Given the description of an element on the screen output the (x, y) to click on. 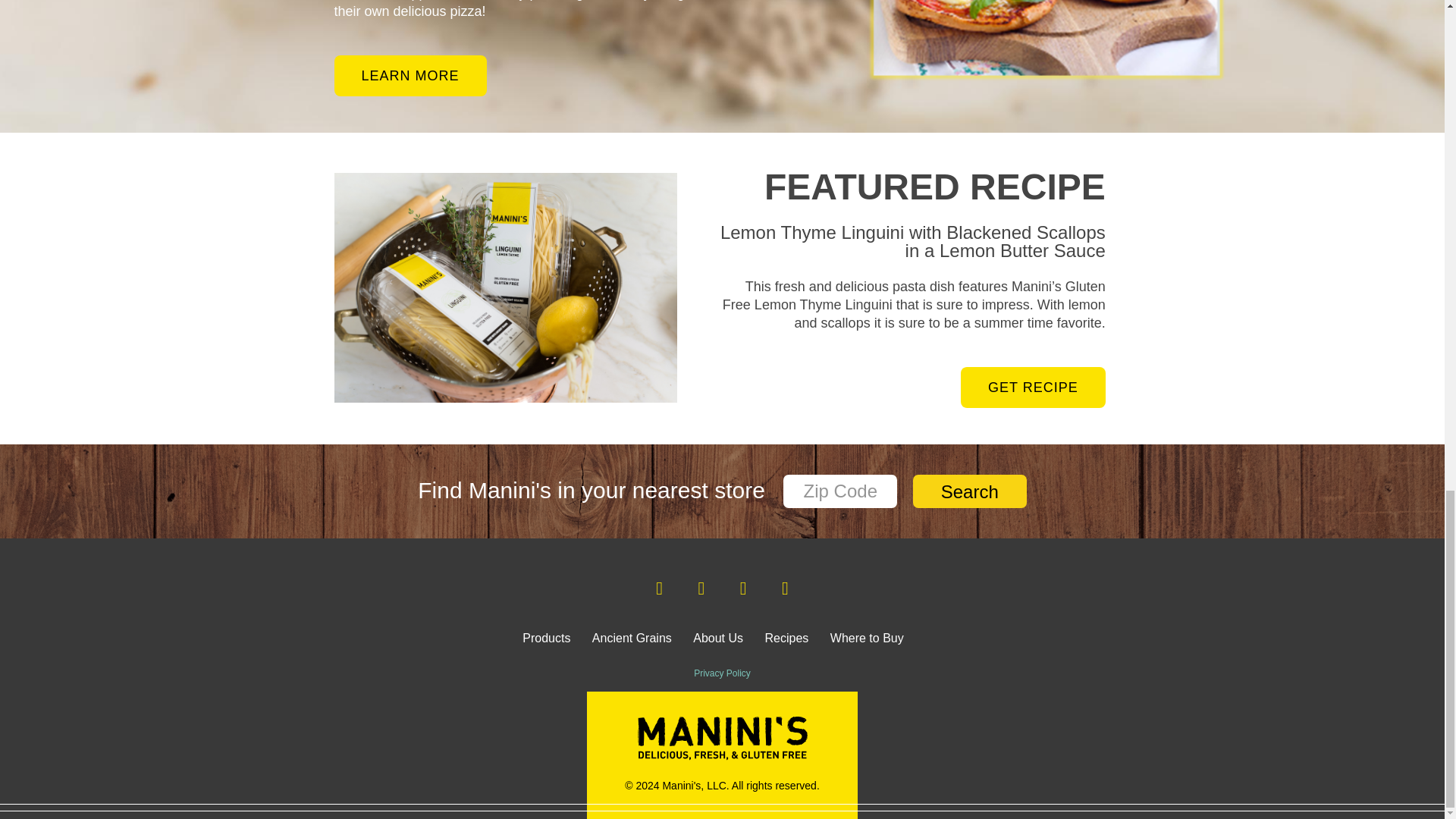
LEARN MORE (409, 75)
GET RECIPE (1032, 386)
Products (546, 640)
Manini's, LLC (721, 756)
Ancient Grains (631, 637)
Search (969, 491)
